Given the description of an element on the screen output the (x, y) to click on. 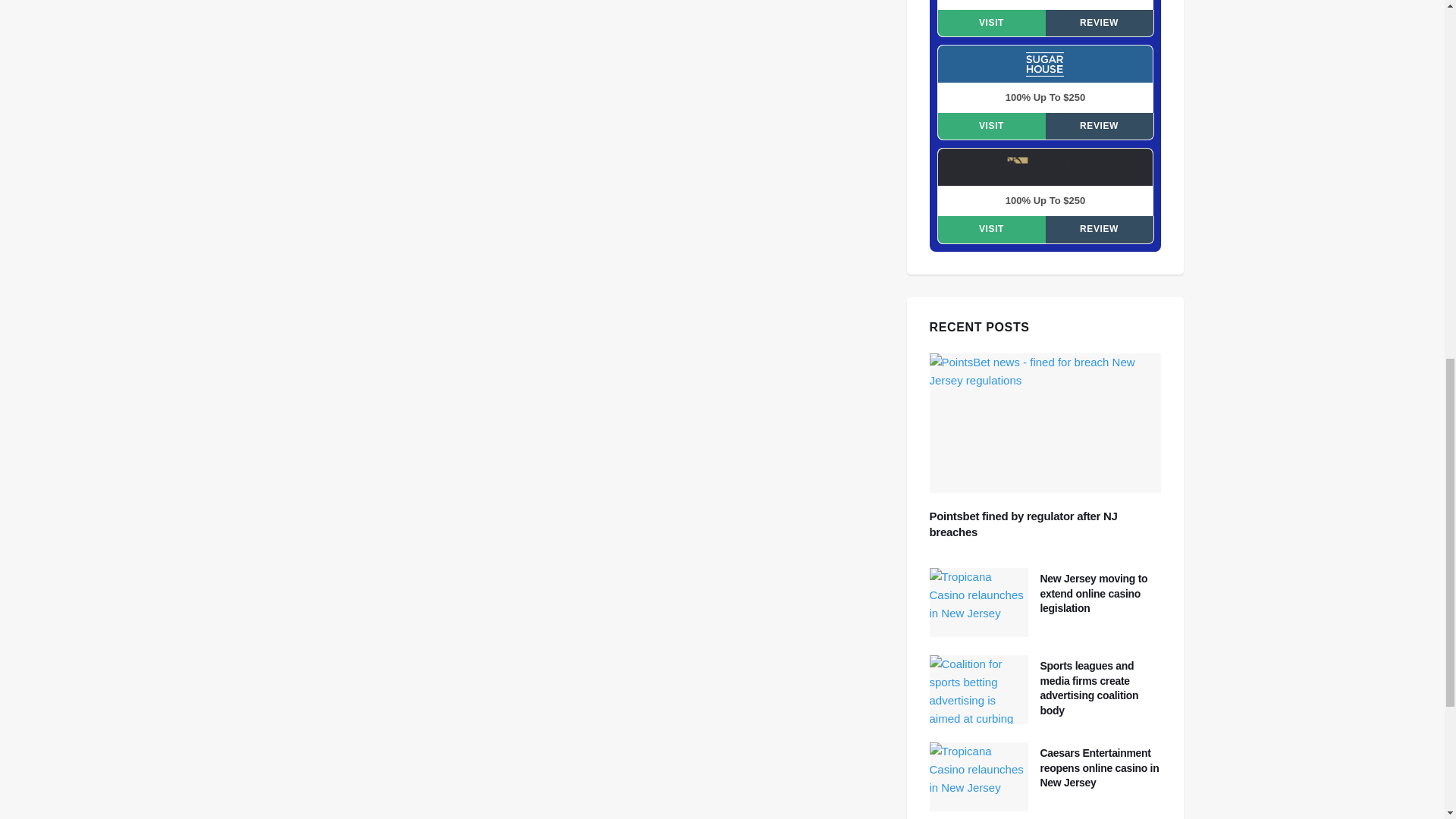
Pointsbet fined by regulator after NJ breaches (1024, 523)
Pointsbet fined by regulator after NJ breaches (1045, 422)
New Jersey moving to extend online casino legislation (978, 602)
New Jersey moving to extend online casino legislation (1094, 593)
